Given the description of an element on the screen output the (x, y) to click on. 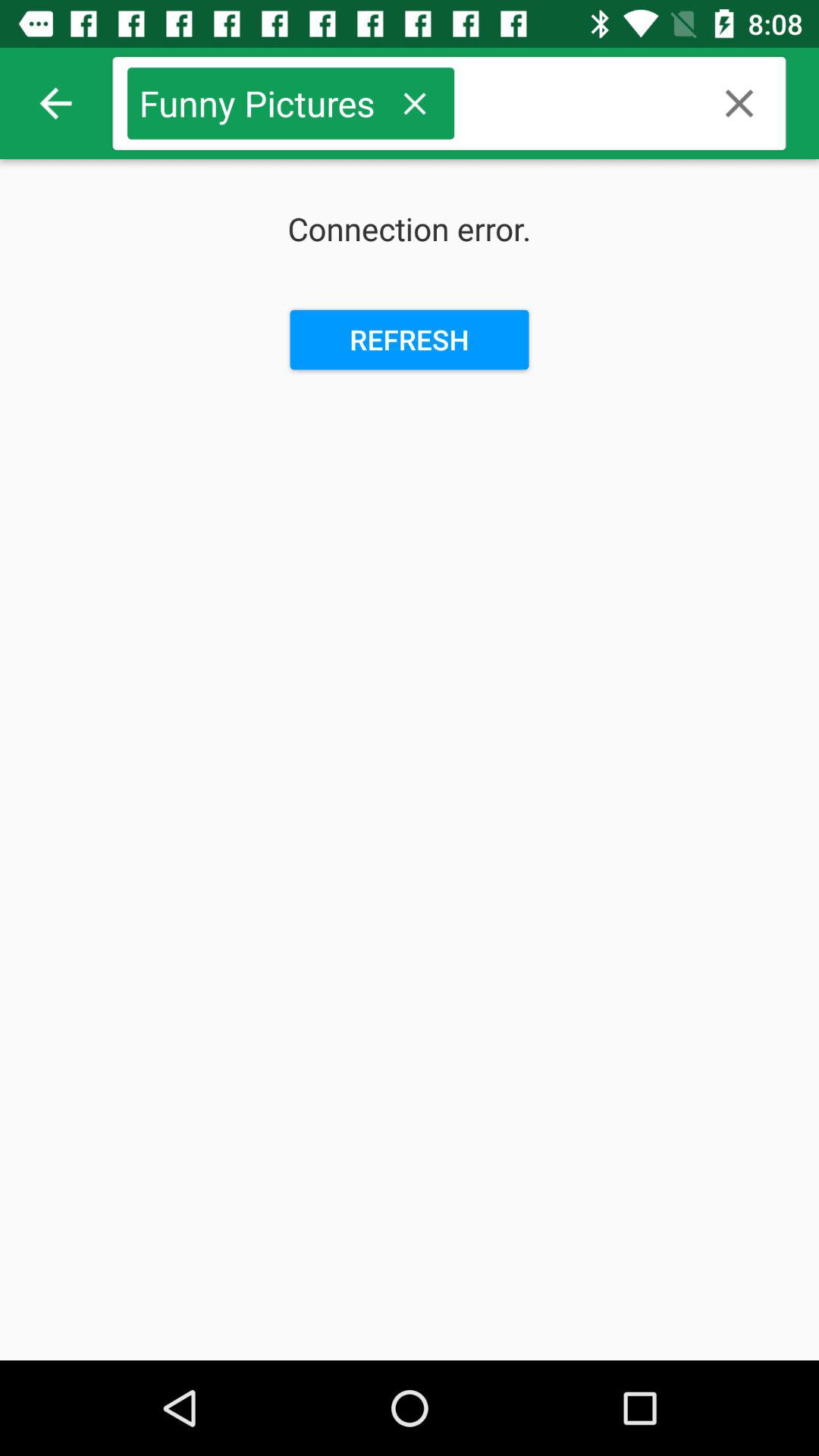
jump to the refresh (409, 339)
